Given the description of an element on the screen output the (x, y) to click on. 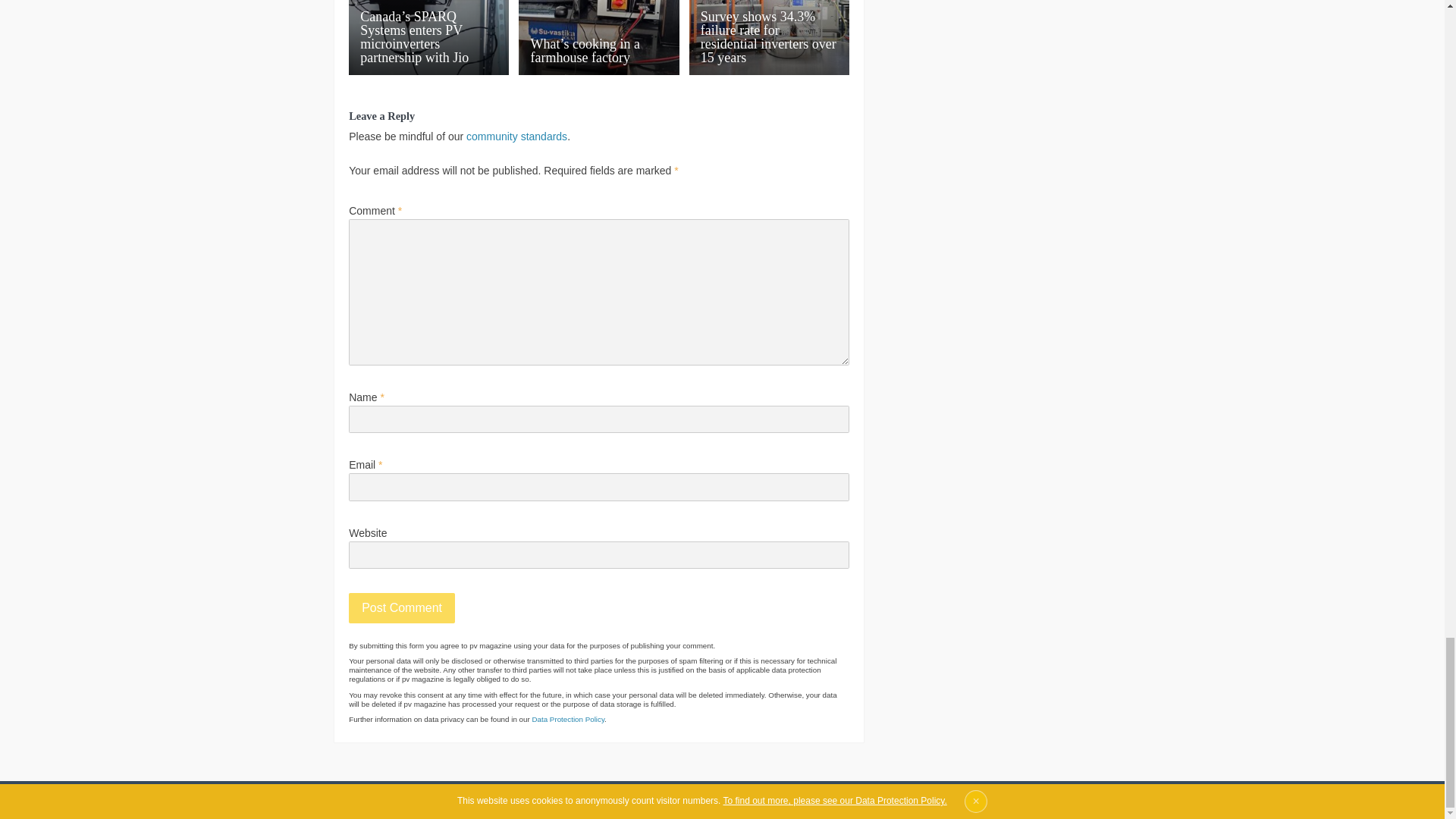
Post Comment (401, 607)
